Given the description of an element on the screen output the (x, y) to click on. 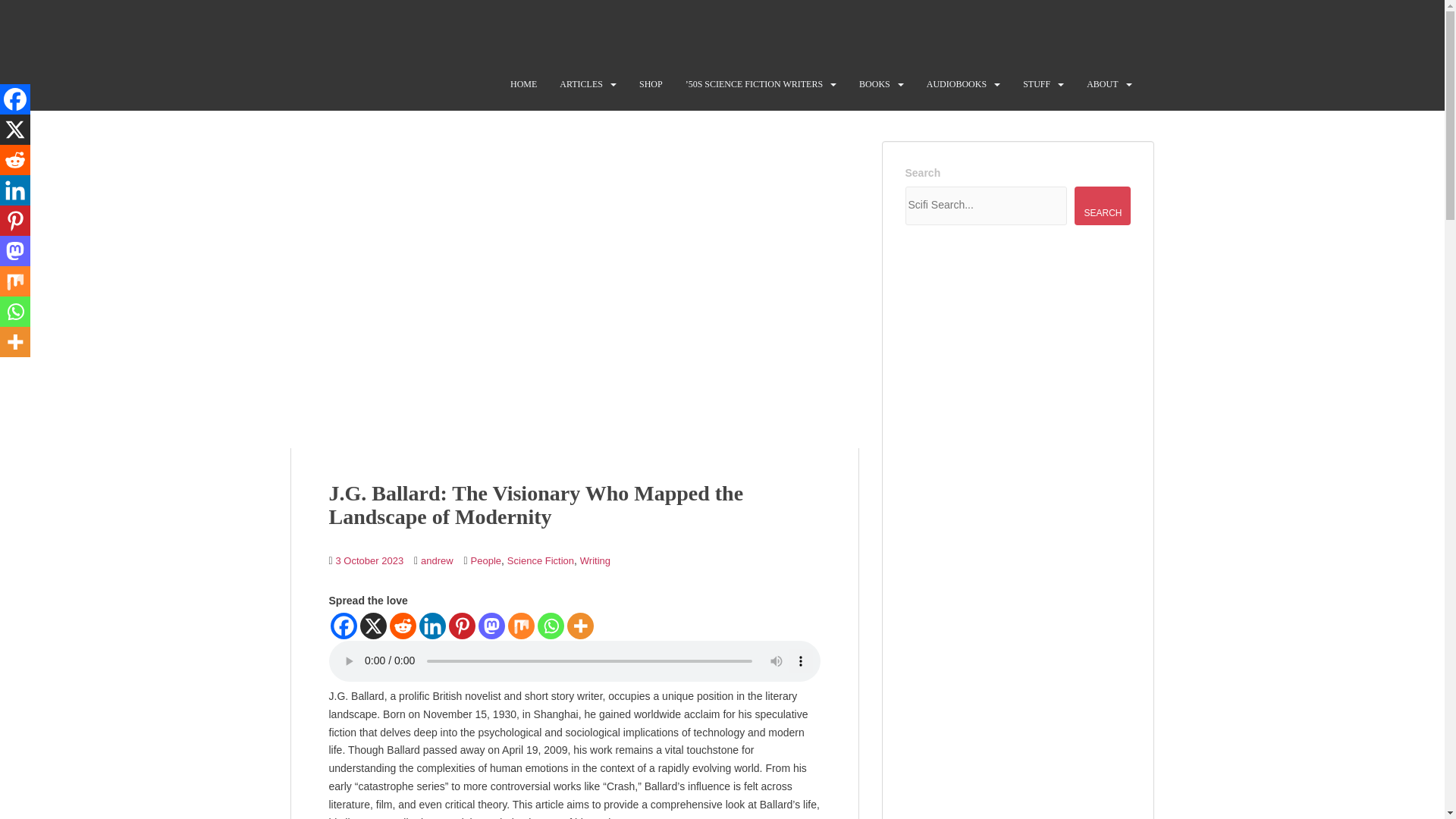
ARTICLES (580, 83)
Pinterest (462, 625)
X (15, 129)
More (580, 625)
Facebook (343, 625)
Reddit (403, 625)
Mastodon (490, 625)
HOME (524, 83)
Facebook (15, 99)
X (372, 625)
Mix (521, 625)
Linkedin (432, 625)
Whatsapp (550, 625)
